Given the description of an element on the screen output the (x, y) to click on. 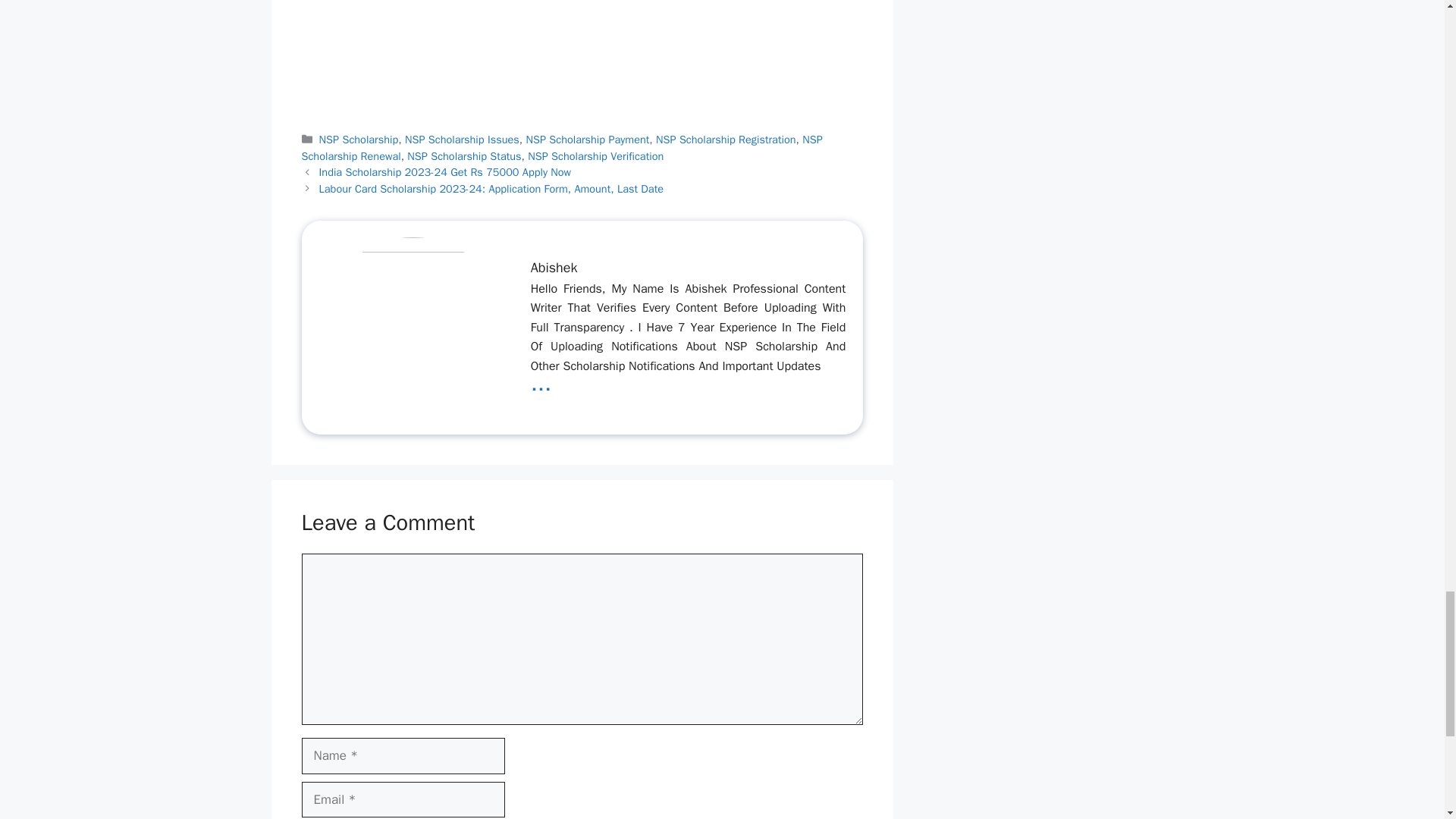
NSP Scholarship Payment (587, 139)
India Scholarship 2023-24 Get Rs 75000 Apply Now (445, 172)
NSP Scholarship (358, 139)
NSP Scholarship Issues (461, 139)
NSP Scholarship Verification (595, 155)
Advertisement (636, 54)
NSP Scholarship Status (464, 155)
NSP Scholarship Registration (726, 139)
NSP Scholarship Renewal (561, 147)
